Given the description of an element on the screen output the (x, y) to click on. 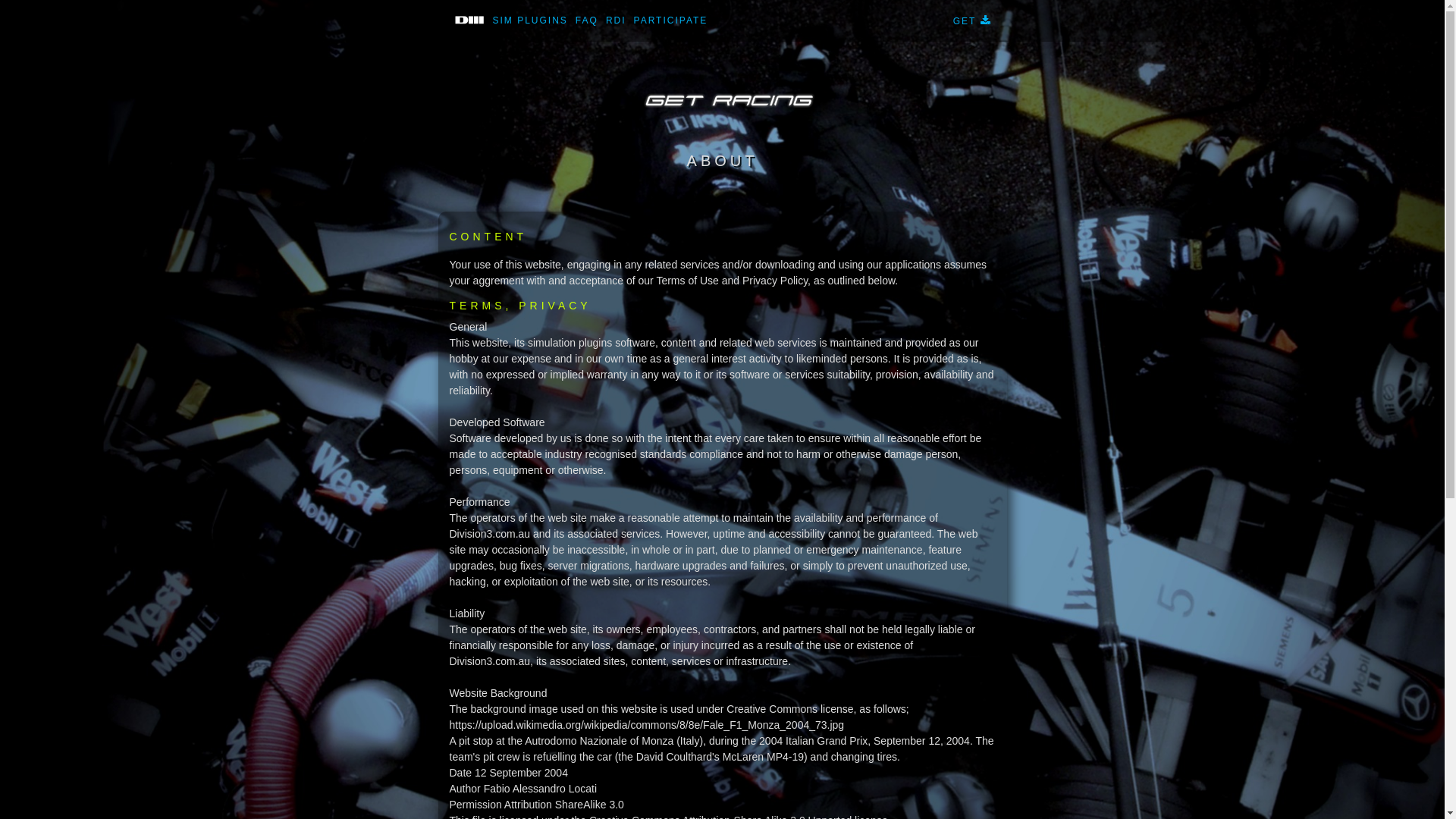
SIM PLUGINS Element type: text (529, 20)
RDI Element type: text (616, 20)
FAQ Element type: text (586, 20)
PARTICIPATE Element type: text (671, 20)
GET Element type: text (972, 20)
